Given the description of an element on the screen output the (x, y) to click on. 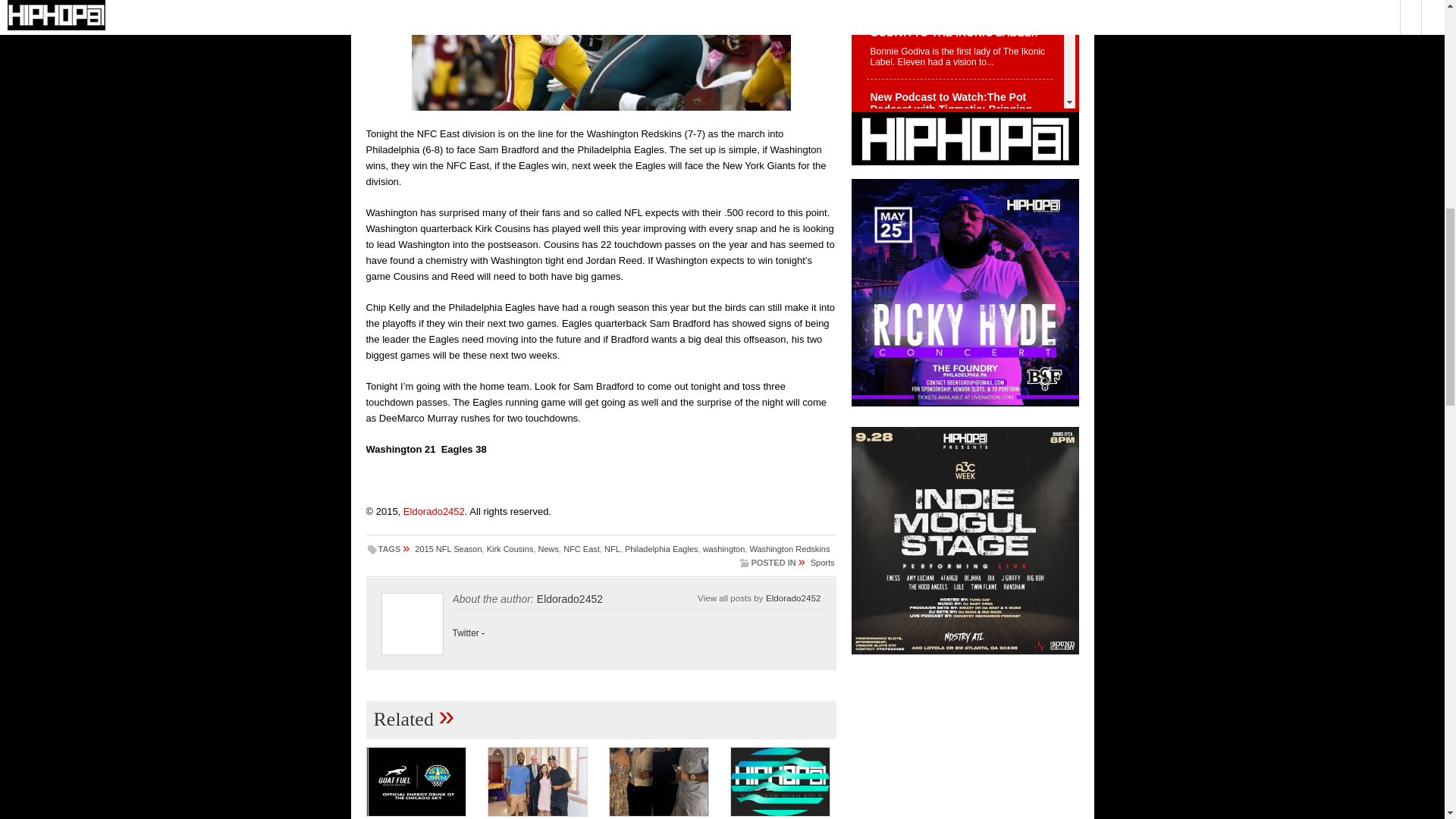
2015 NFL Season (447, 548)
ELEVEN WELCOMES BONNIE GODIVA TO THE IKONIC LABEL!! (958, 41)
Posts by Eldorado2452 (433, 511)
Posts by Eldorado2452 (569, 598)
Posts by Eldorado2452 (793, 597)
Eldorado2452 (433, 511)
NFC East (581, 548)
Sports (822, 562)
Eldorado2452 (793, 597)
Twitter (465, 633)
